Given the description of an element on the screen output the (x, y) to click on. 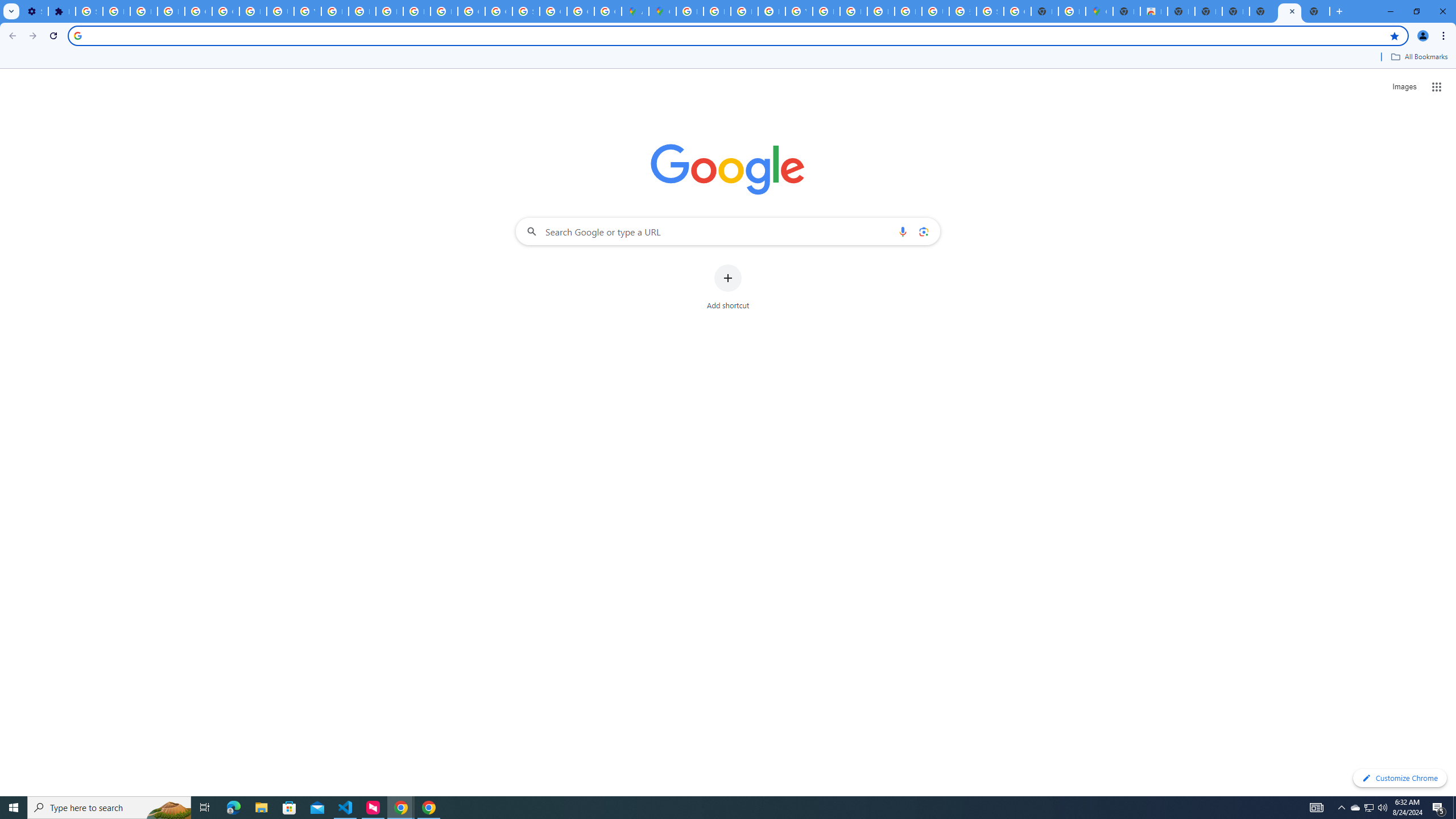
Search by voice (902, 230)
Privacy Help Center - Policies Help (362, 11)
Customize Chrome (1399, 778)
